Given the description of an element on the screen output the (x, y) to click on. 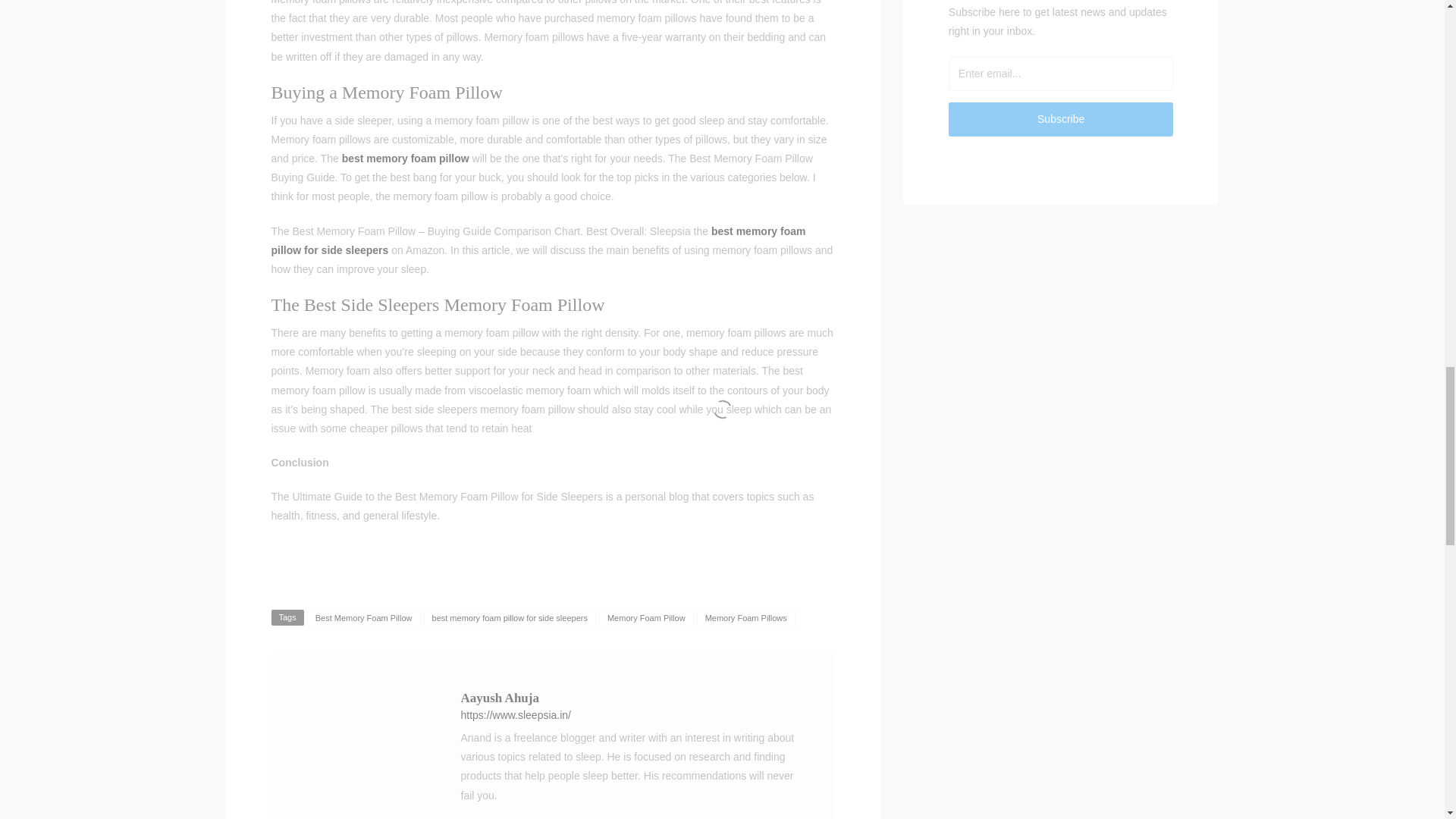
Memory Foam Pillows (745, 618)
Memory Foam Pillow (646, 618)
best memory foam pillow for side sleepers (538, 240)
Aayush Ahuja (499, 698)
best memory foam pillow (405, 158)
Best Memory Foam Pillow (363, 618)
best memory foam pillow for side sleepers (509, 618)
